Given the description of an element on the screen output the (x, y) to click on. 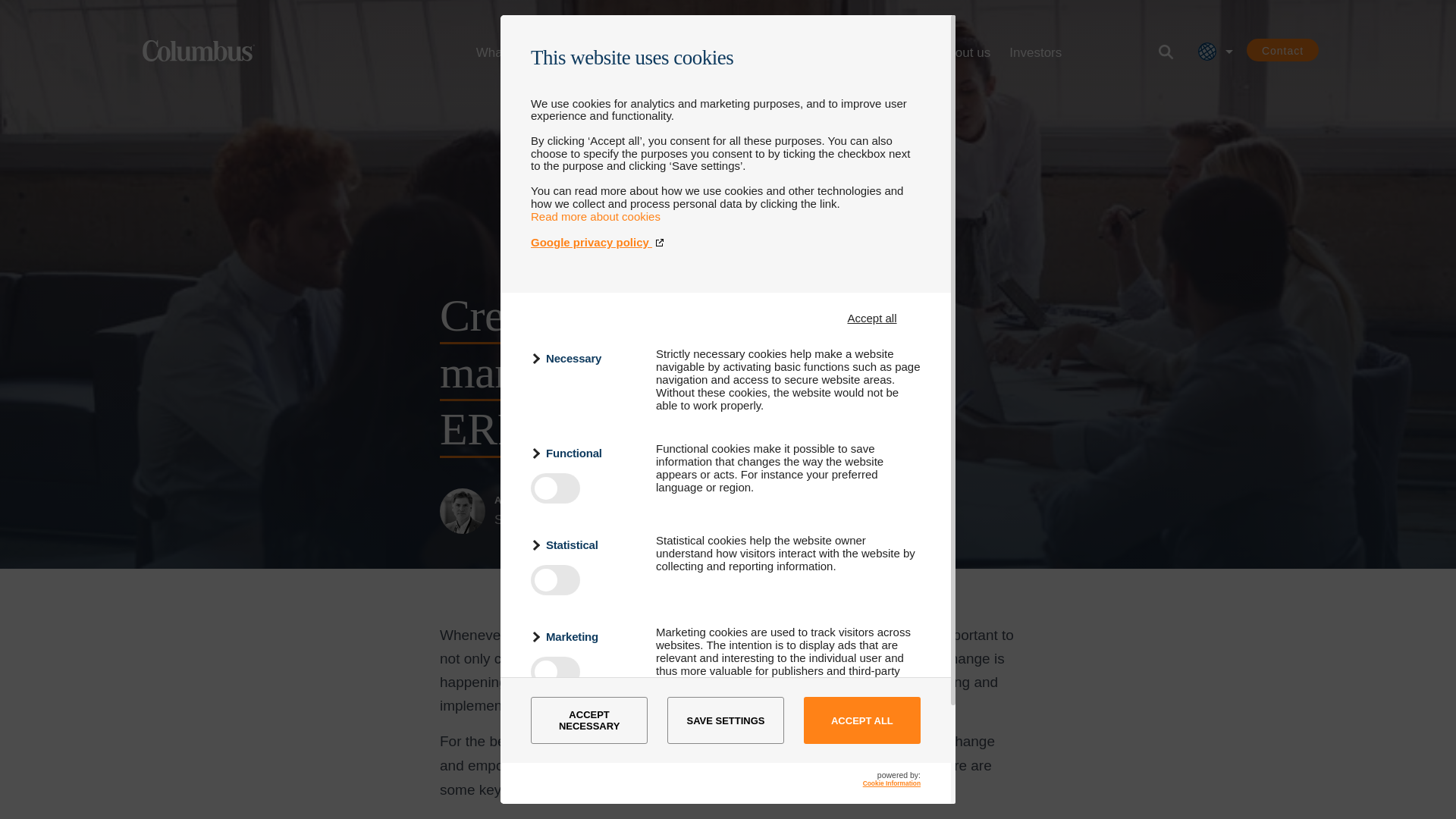
Functional (584, 453)
Google privacy policy (725, 242)
Statistical (584, 544)
Read more about cookies (596, 215)
Necessary (584, 358)
Accept all (872, 318)
Marketing (584, 636)
